Given the description of an element on the screen output the (x, y) to click on. 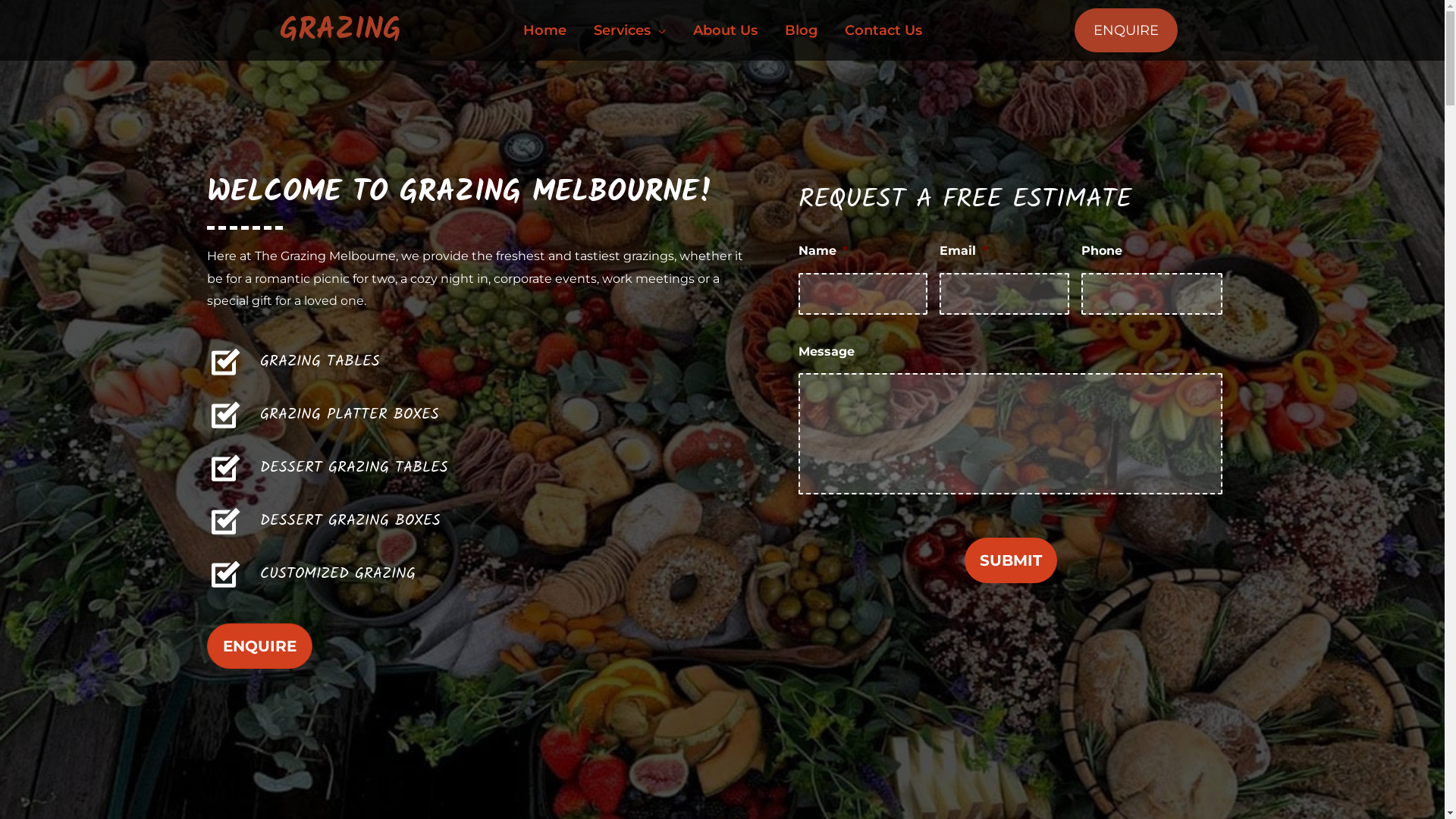
ENQUIRE Element type: text (258, 645)
About Us Element type: text (725, 29)
Contact Us Element type: text (883, 29)
Submit Element type: text (1010, 560)
Services Element type: text (628, 29)
Blog Element type: text (800, 29)
ENQUIRE Element type: text (1124, 30)
GRAZING Element type: text (339, 30)
Home Element type: text (544, 29)
